Given the description of an element on the screen output the (x, y) to click on. 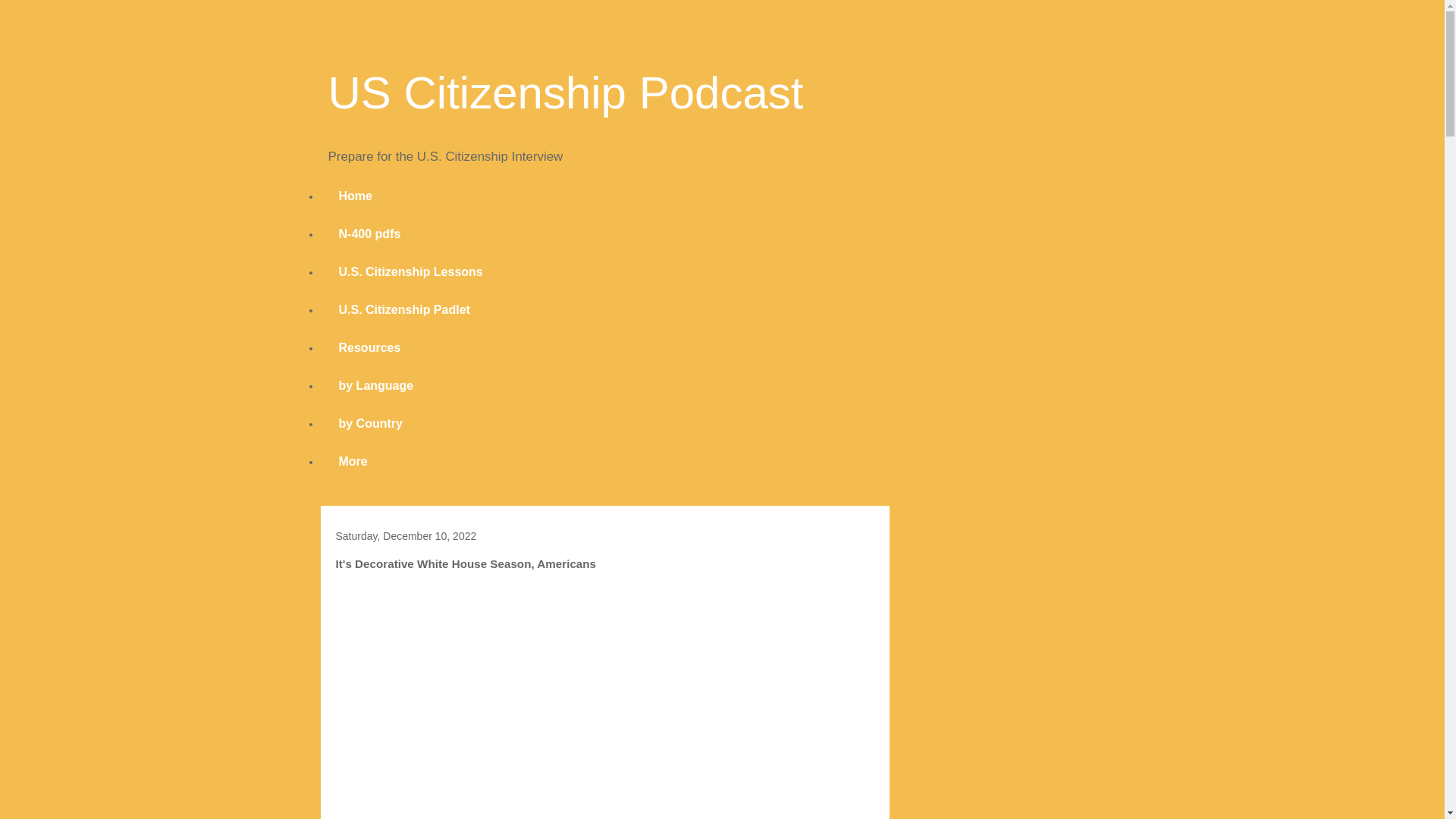
US Citizenship Podcast (565, 92)
N-400 pdfs (369, 234)
Resources (369, 347)
YouTube video player (603, 700)
by Country (370, 423)
U.S. Citizenship Padlet (403, 310)
More (352, 461)
by Language (375, 385)
U.S. Citizenship Lessons (410, 272)
Home (355, 196)
